Given the description of an element on the screen output the (x, y) to click on. 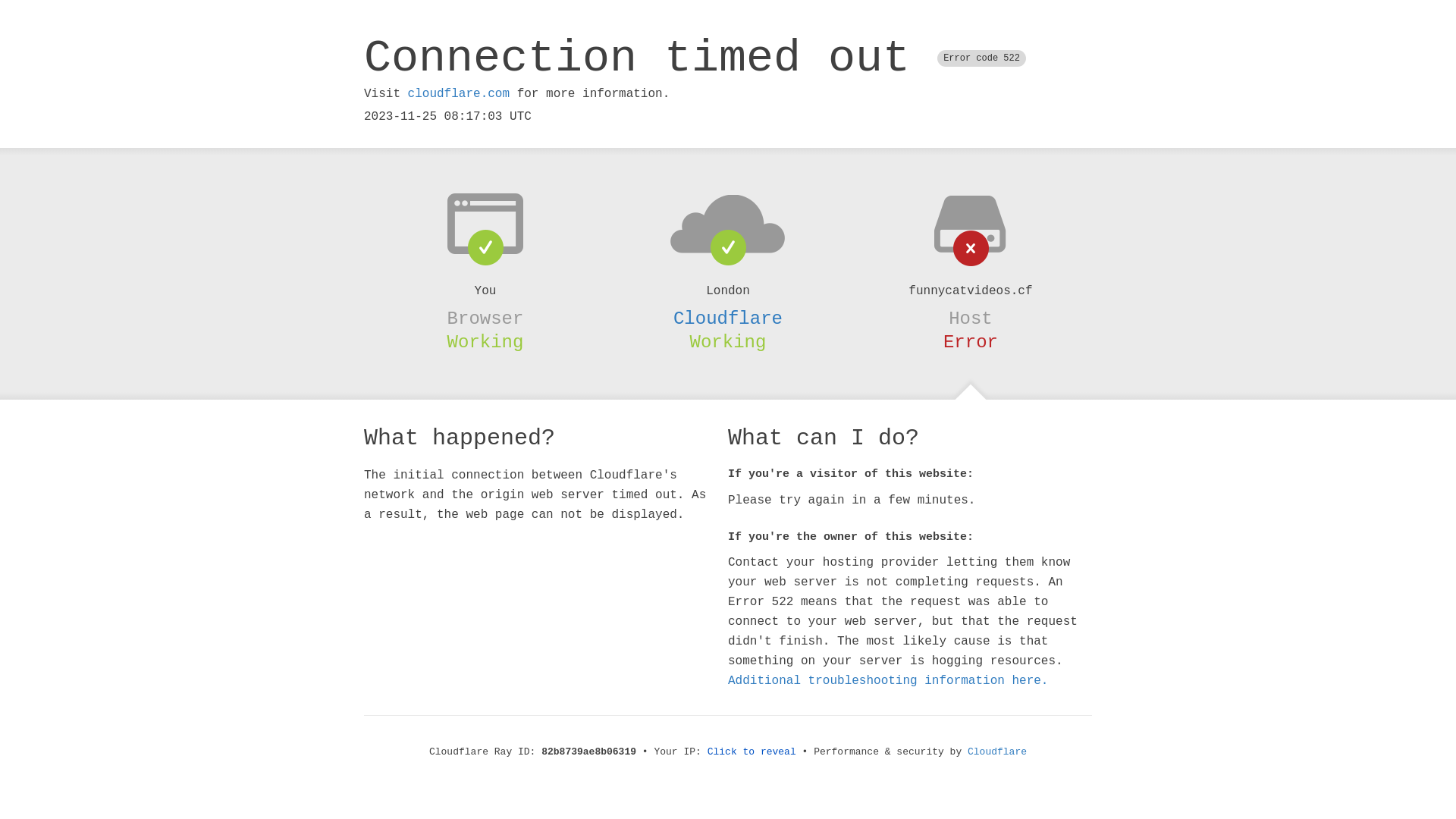
Cloudflare Element type: text (727, 318)
Additional troubleshooting information here. Element type: text (888, 680)
Click to reveal Element type: text (751, 751)
Cloudflare Element type: text (996, 751)
cloudflare.com Element type: text (458, 93)
